Given the description of an element on the screen output the (x, y) to click on. 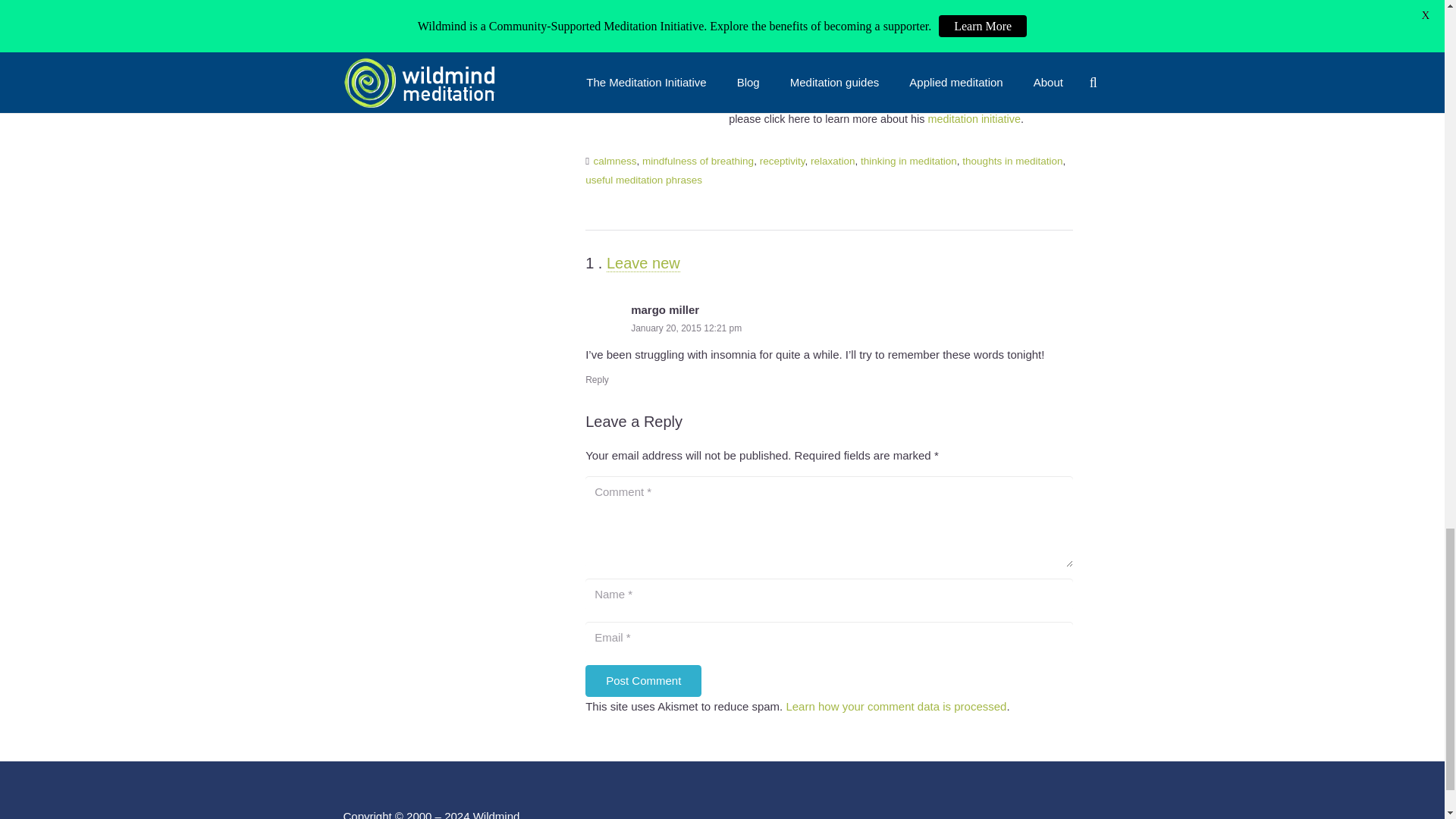
January 20, 2015 12:21 pm (685, 327)
